Given the description of an element on the screen output the (x, y) to click on. 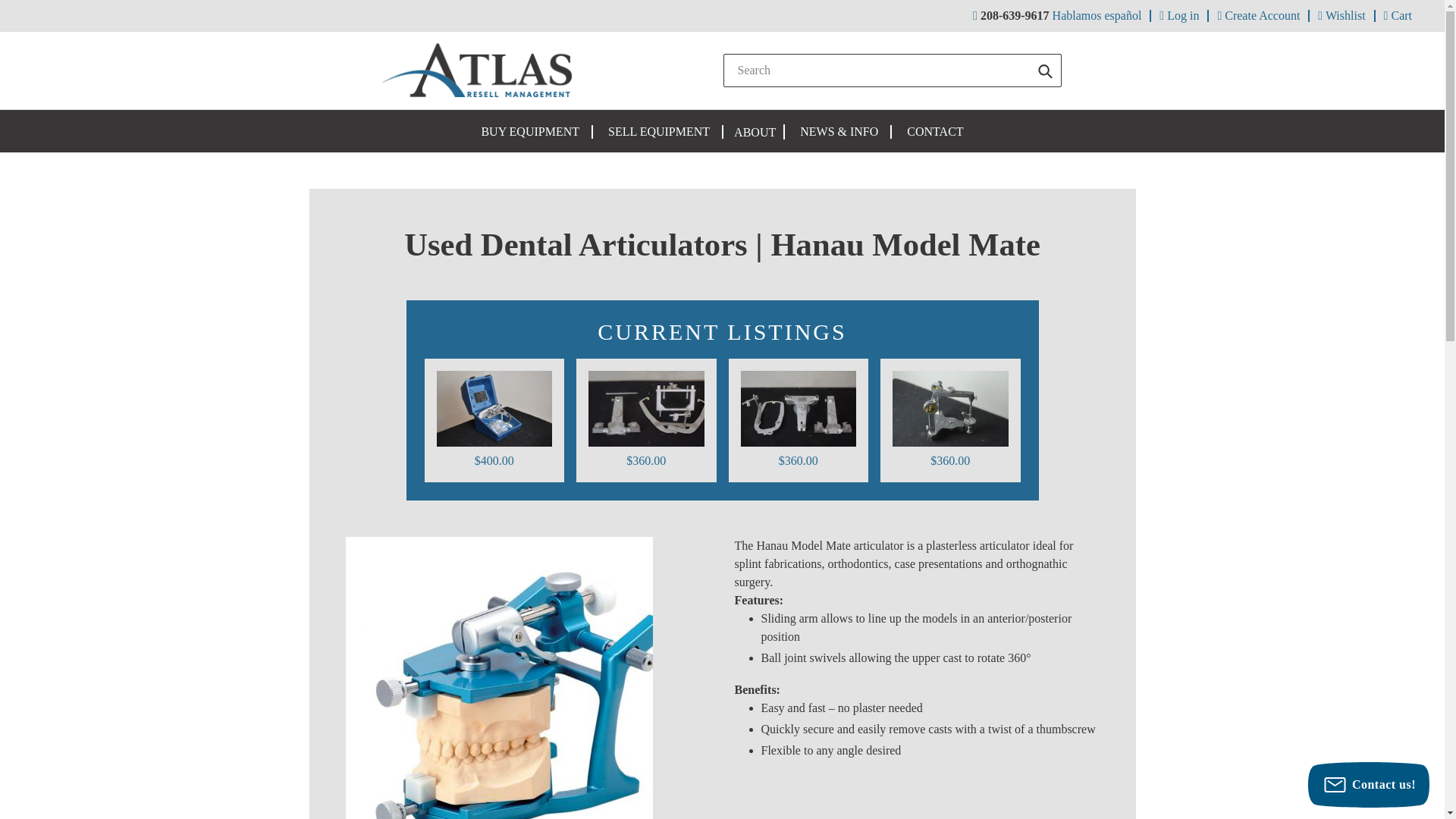
Cart (1398, 15)
Wishlist (1340, 15)
Log in (1179, 15)
BUY EQUIPMENT (529, 131)
Submit (1045, 70)
SELL EQUIPMENT (658, 131)
ABOUT (754, 133)
Create Account (1257, 15)
CONTACT (935, 131)
